Given the description of an element on the screen output the (x, y) to click on. 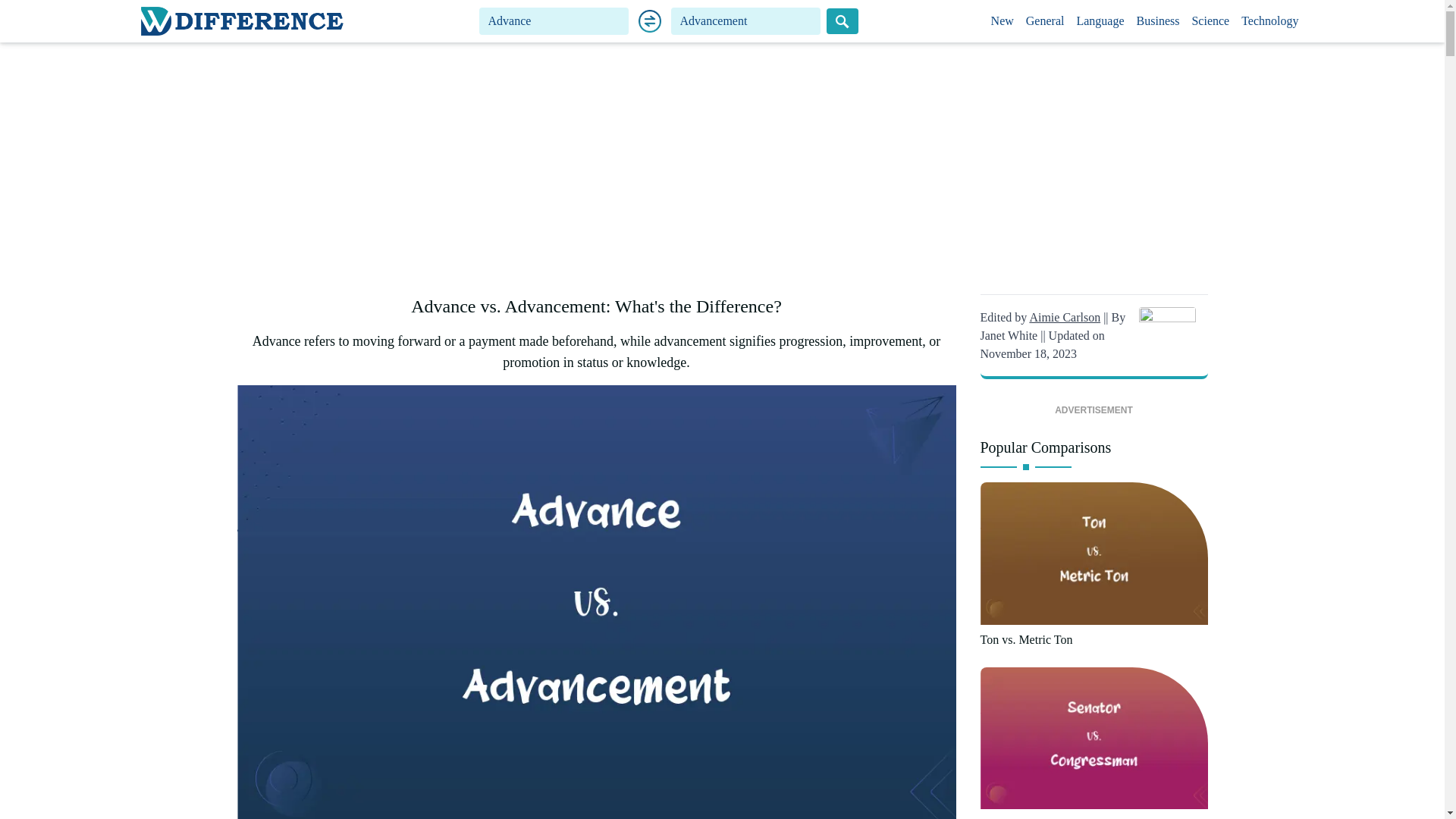
Advancement (746, 21)
Science (1209, 21)
General (1045, 21)
Language (1099, 21)
Business (1158, 21)
Technology (1269, 21)
New (1002, 21)
Advance (553, 21)
